Given the description of an element on the screen output the (x, y) to click on. 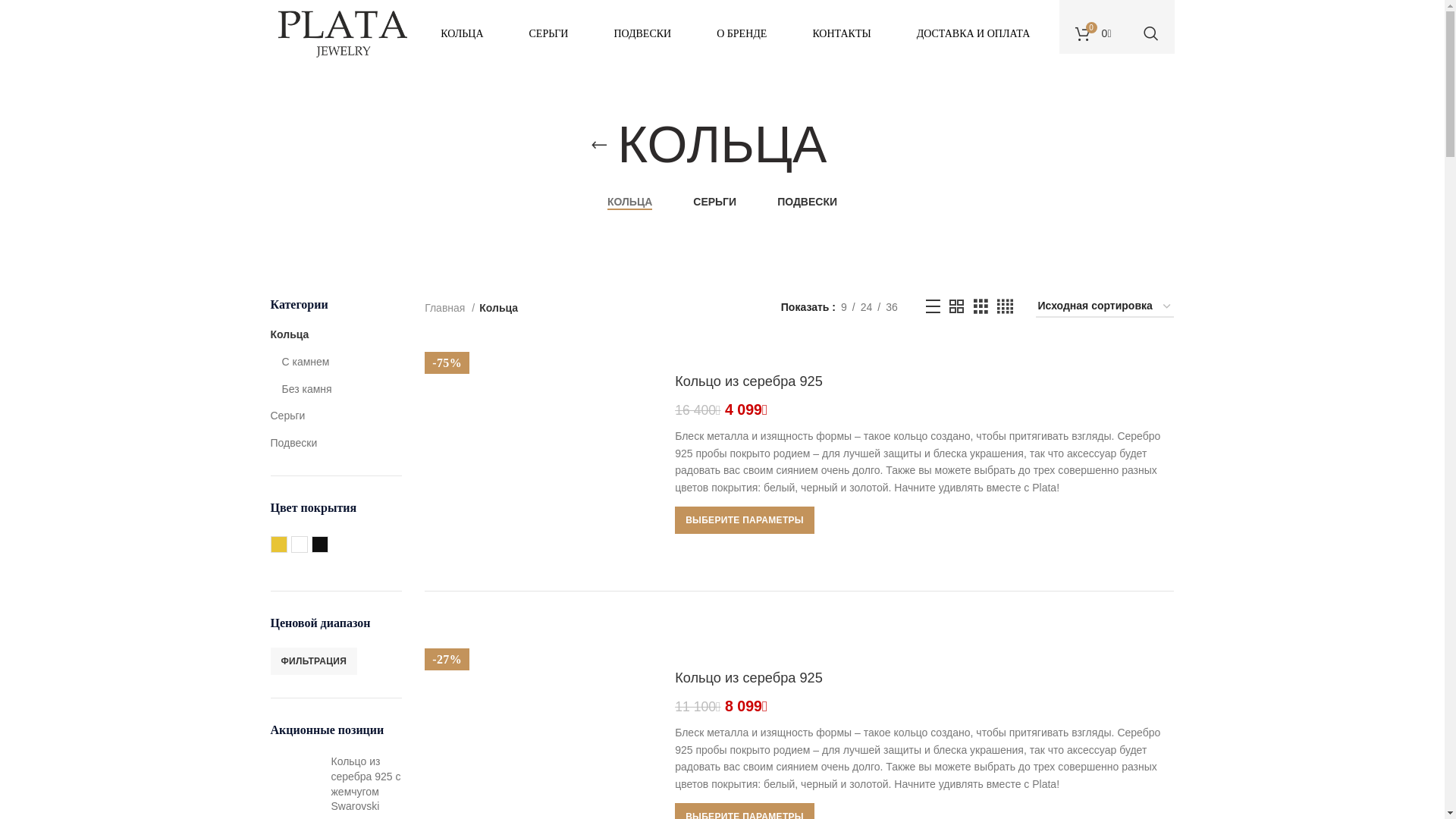
36 Element type: text (891, 306)
9 Element type: text (843, 306)
24 Element type: text (866, 306)
-75% Element type: text (538, 453)
